Given the description of an element on the screen output the (x, y) to click on. 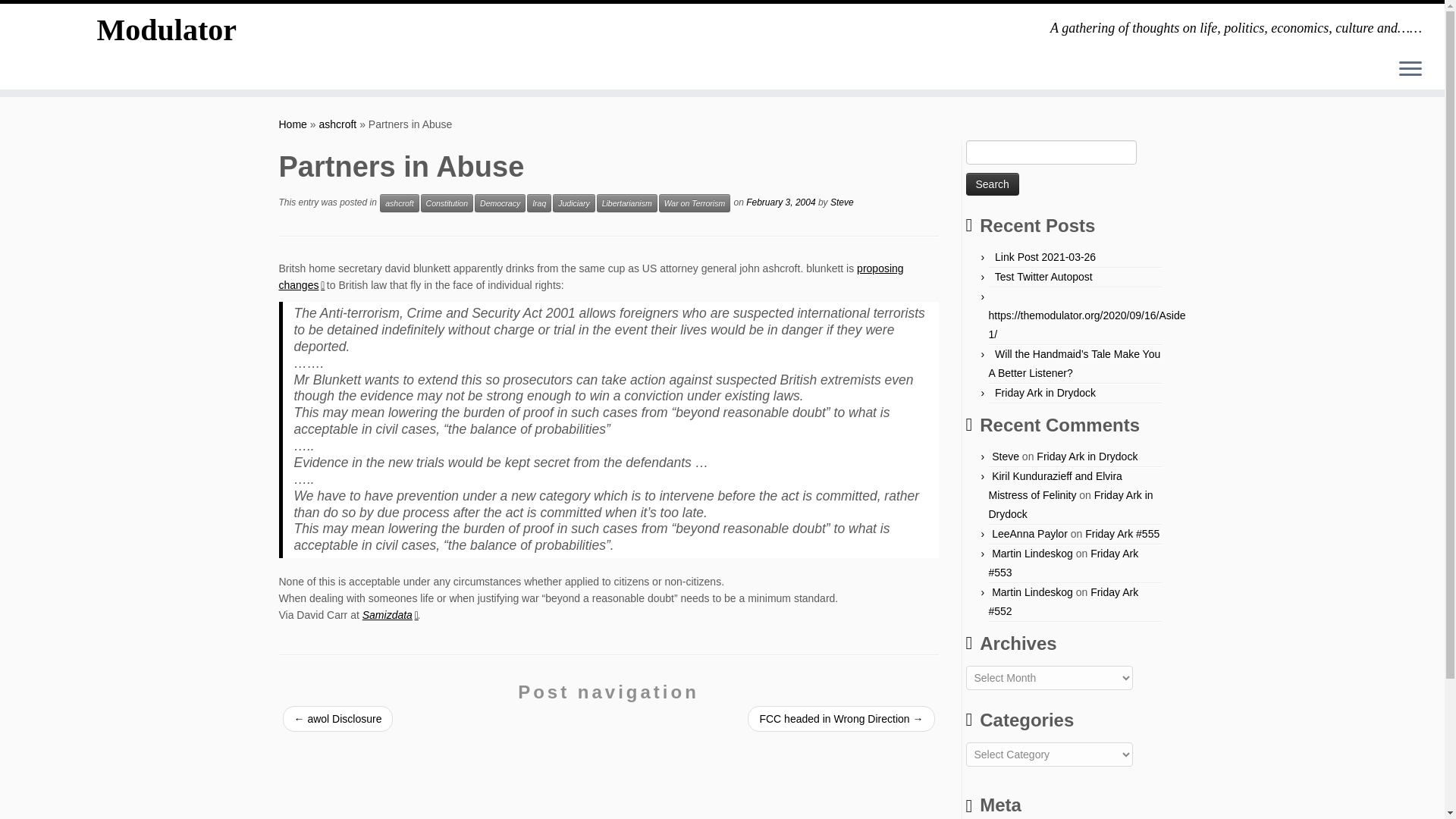
ashcroft (337, 123)
Steve (841, 202)
Modulator (166, 30)
Constitution (446, 203)
Martin Lindeskog (1032, 553)
View all posts in Libertarianism (627, 203)
Samizdata (389, 614)
ashcroft (399, 203)
4:12 pm (780, 202)
View all posts in ashcroft (399, 203)
Libertarianism (627, 203)
View all posts in Democracy (499, 203)
Home (293, 123)
View all posts by Steve (841, 202)
View all posts in Judiciary (573, 203)
